Given the description of an element on the screen output the (x, y) to click on. 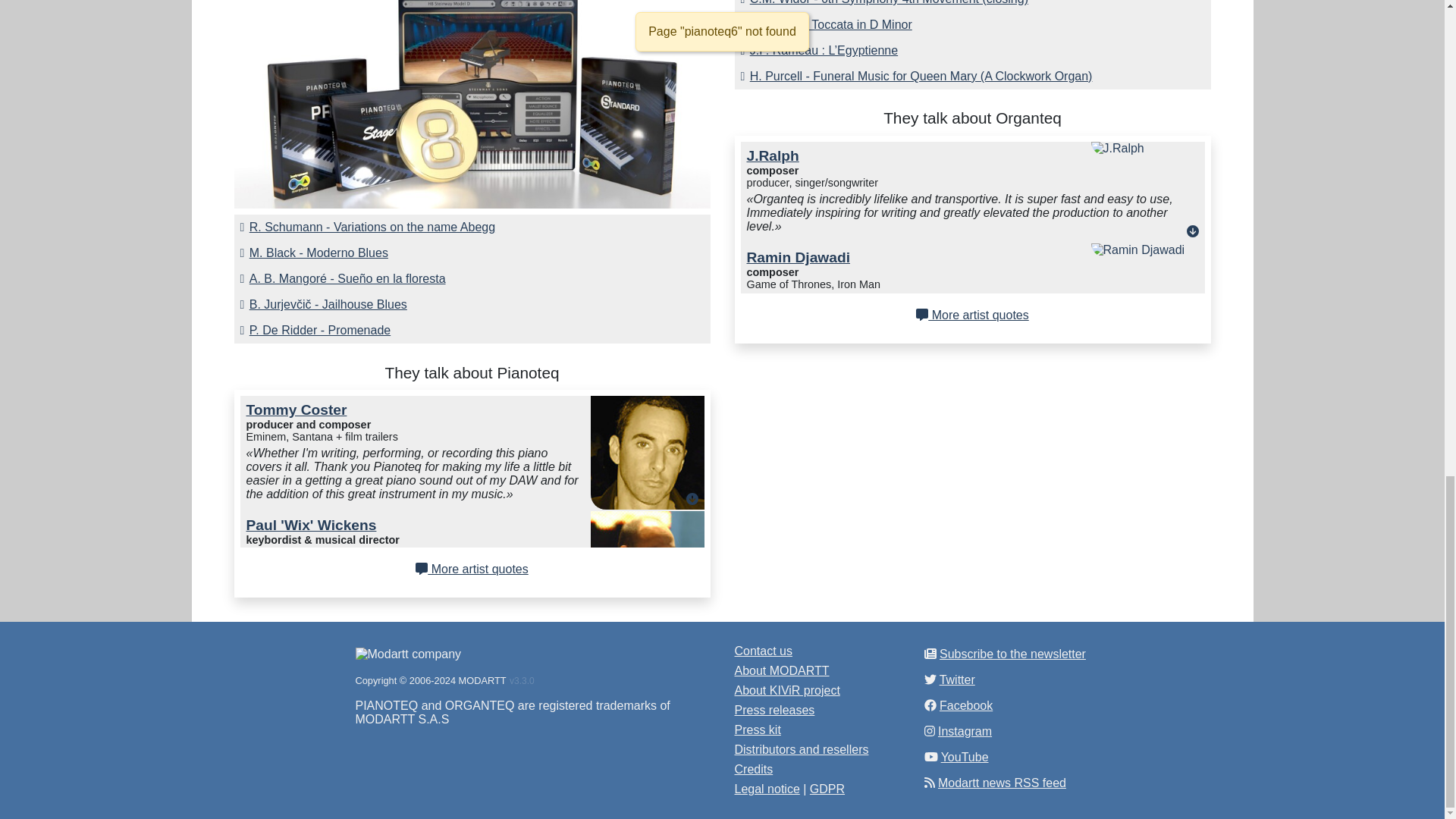
M. Black - Moderno Blues (471, 253)
P. De Ridder - Promenade (471, 330)
Tommy Coster (296, 409)
R. Schumann - Variations on the name Abegg (471, 227)
Paul 'Wix' Wickens (310, 524)
